Given the description of an element on the screen output the (x, y) to click on. 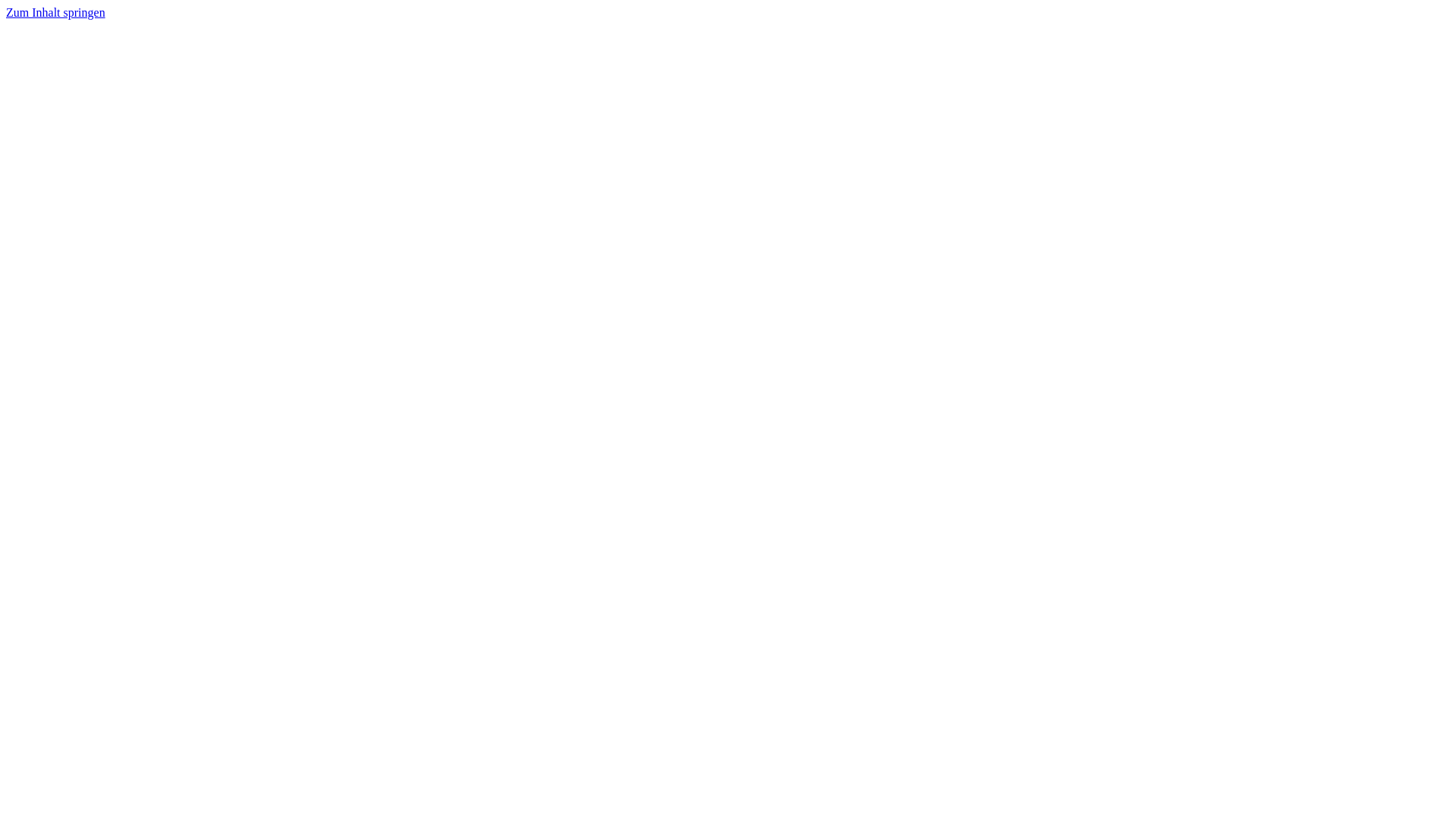
Zum Inhalt springen Element type: text (55, 12)
